Given the description of an element on the screen output the (x, y) to click on. 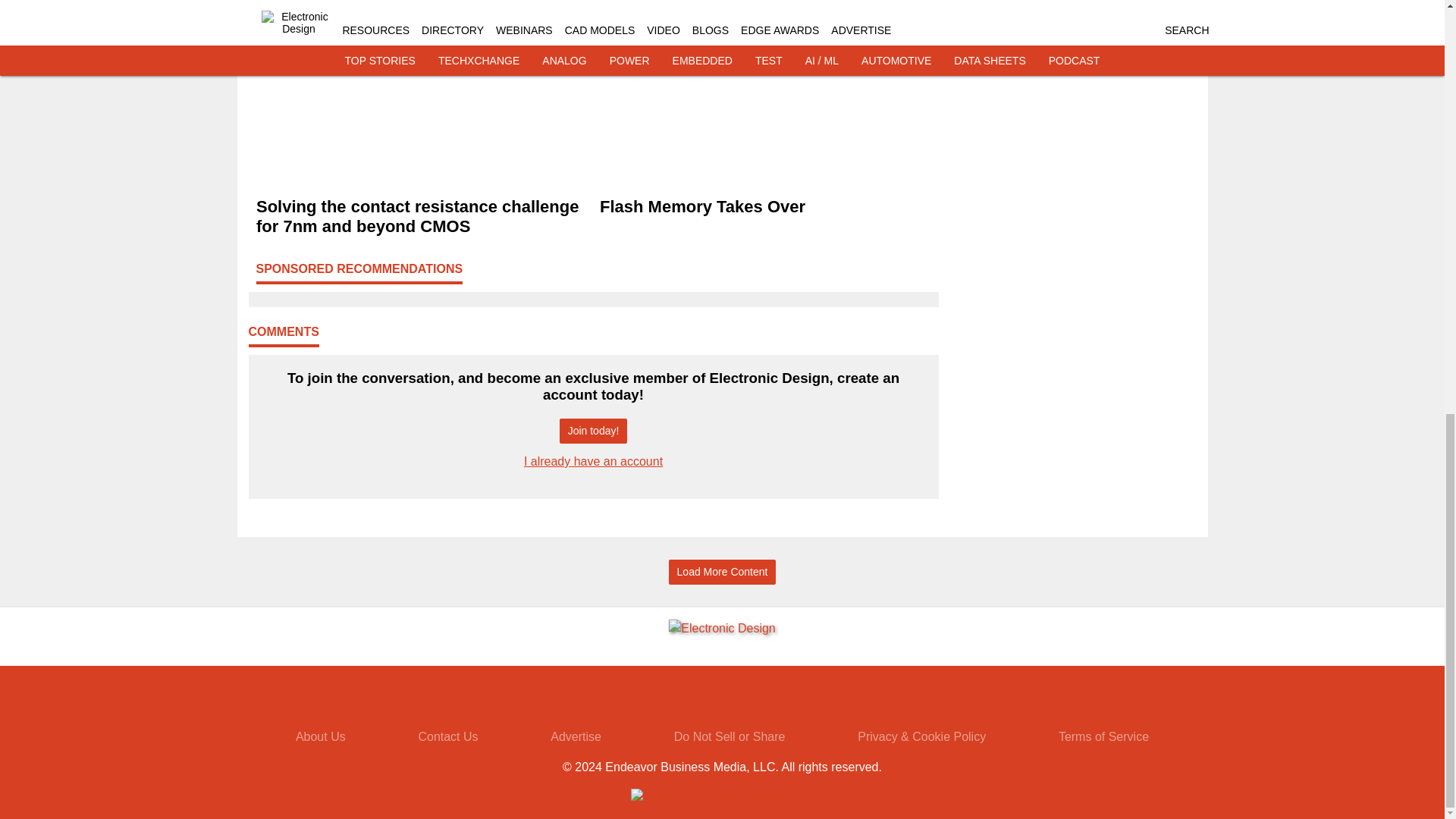
Join today! (593, 430)
Flash Memory Takes Over (764, 207)
I already have an account (593, 461)
